Given the description of an element on the screen output the (x, y) to click on. 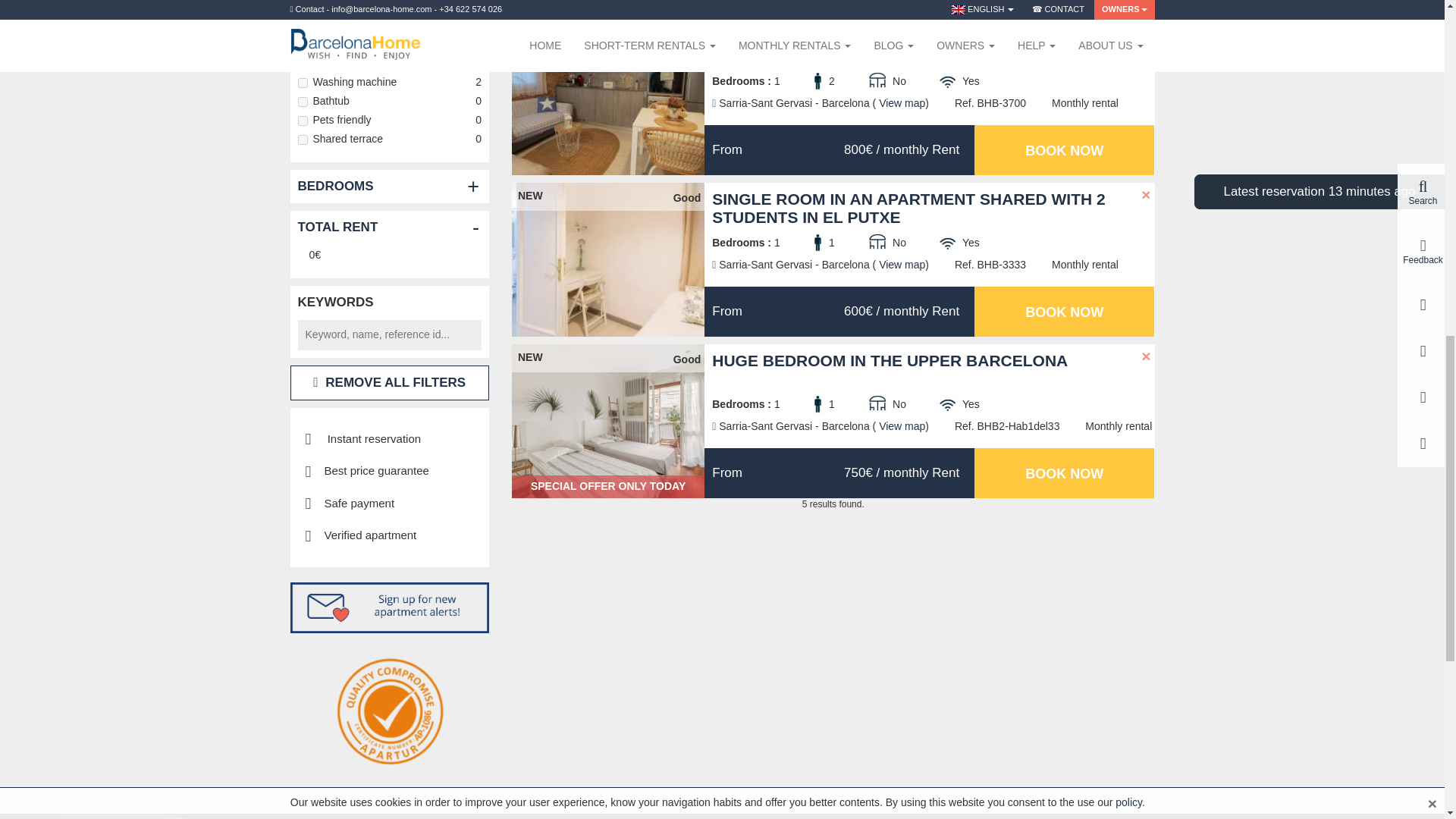
1 (302, 44)
1 (302, 139)
 Room for single use in an apartment shared with 2 students  (608, 7)
1 (302, 7)
1 (302, 82)
1 (302, 102)
Huge bedroom in the upper Barcelona (608, 420)
Perfect studio for two in the upper area of Barcelona (608, 98)
1 (302, 63)
Alerts-button (389, 607)
1 (302, 121)
1 (302, 26)
